Given the description of an element on the screen output the (x, y) to click on. 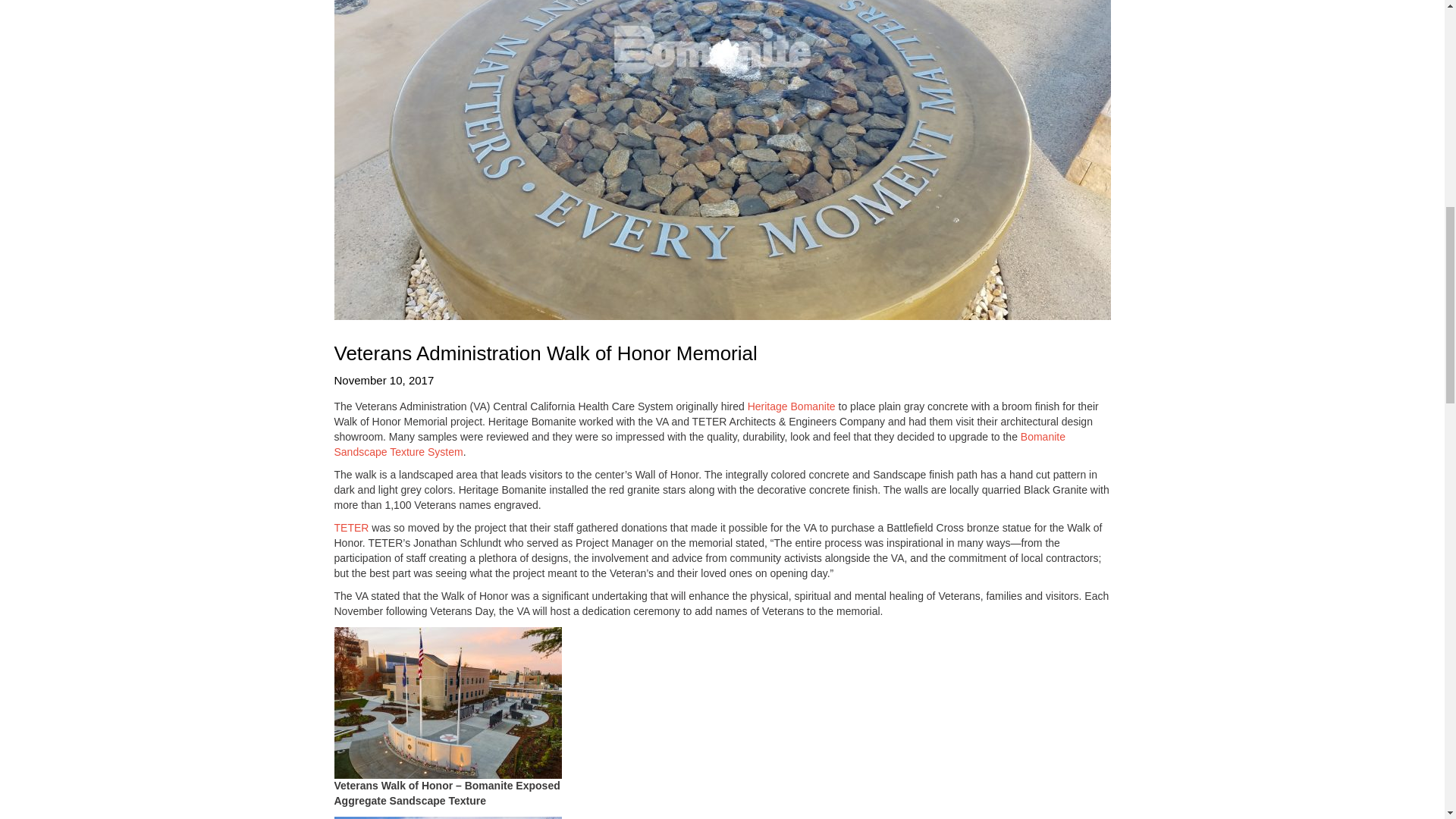
Permalink to Veterans Administration Walk of Honor Memorial (721, 380)
